Given the description of an element on the screen output the (x, y) to click on. 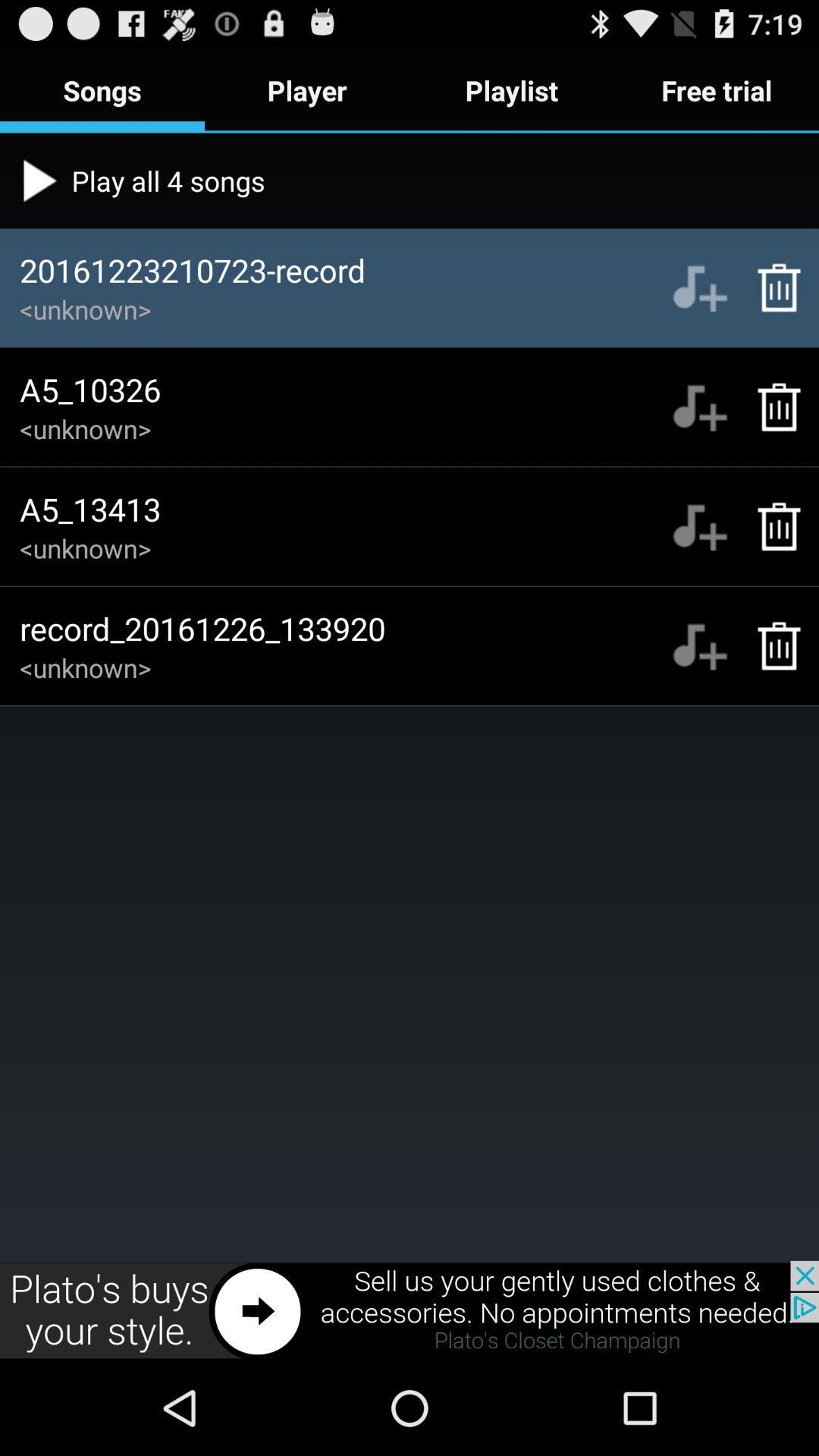
delete option (771, 407)
